Given the description of an element on the screen output the (x, y) to click on. 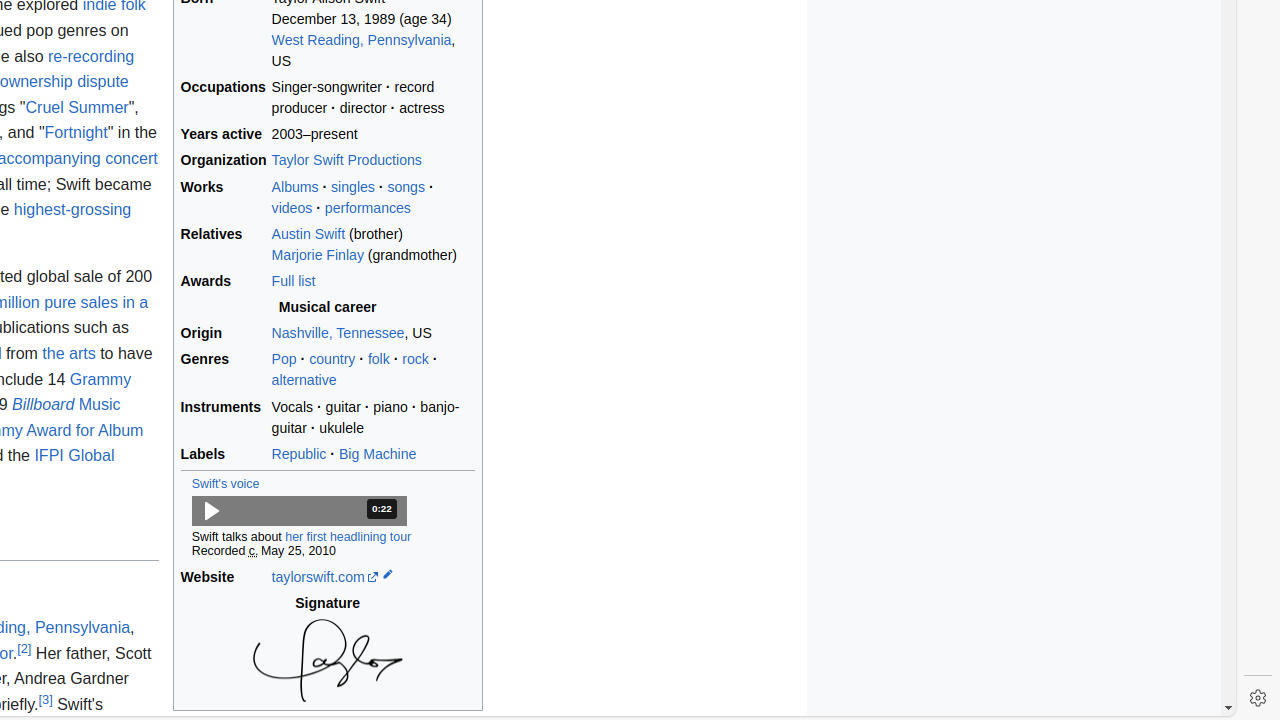
Musical career Element type: table-cell (327, 308)
the arts Element type: link (69, 354)
Vocals · guitar · piano · banjo-guitar · ukulele Element type: table-cell (373, 417)
taylorswift .com Edit this at Wikidata Element type: table-cell (373, 577)
Fortnight Element type: link (76, 133)
